Given the description of an element on the screen output the (x, y) to click on. 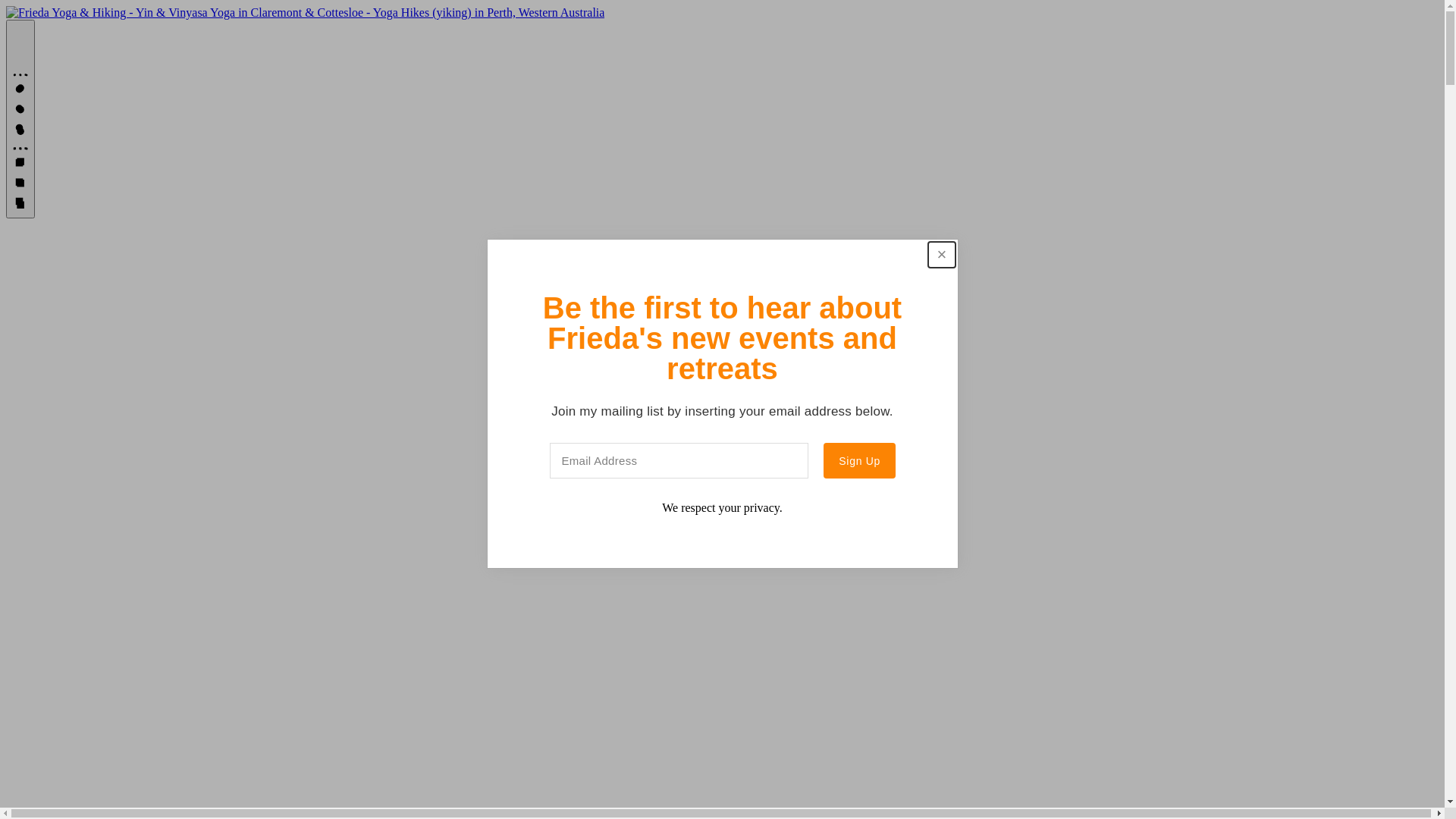
Sign Up Element type: text (858, 460)
